Given the description of an element on the screen output the (x, y) to click on. 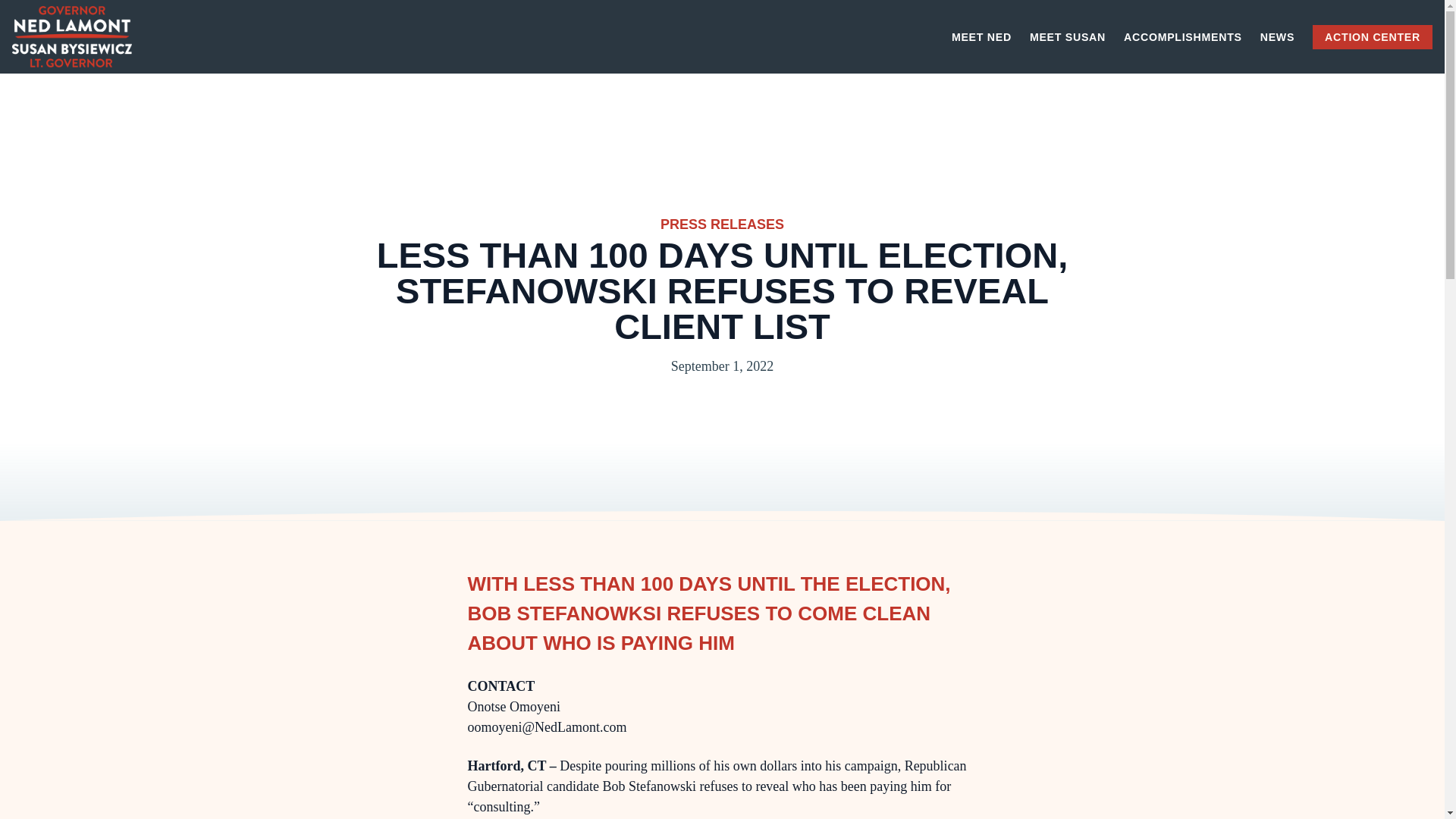
NEWS (1277, 37)
MEET SUSAN (1067, 37)
ACCOMPLISHMENTS (1182, 37)
ACTION CENTER (1372, 37)
MEET NED (981, 37)
